Given the description of an element on the screen output the (x, y) to click on. 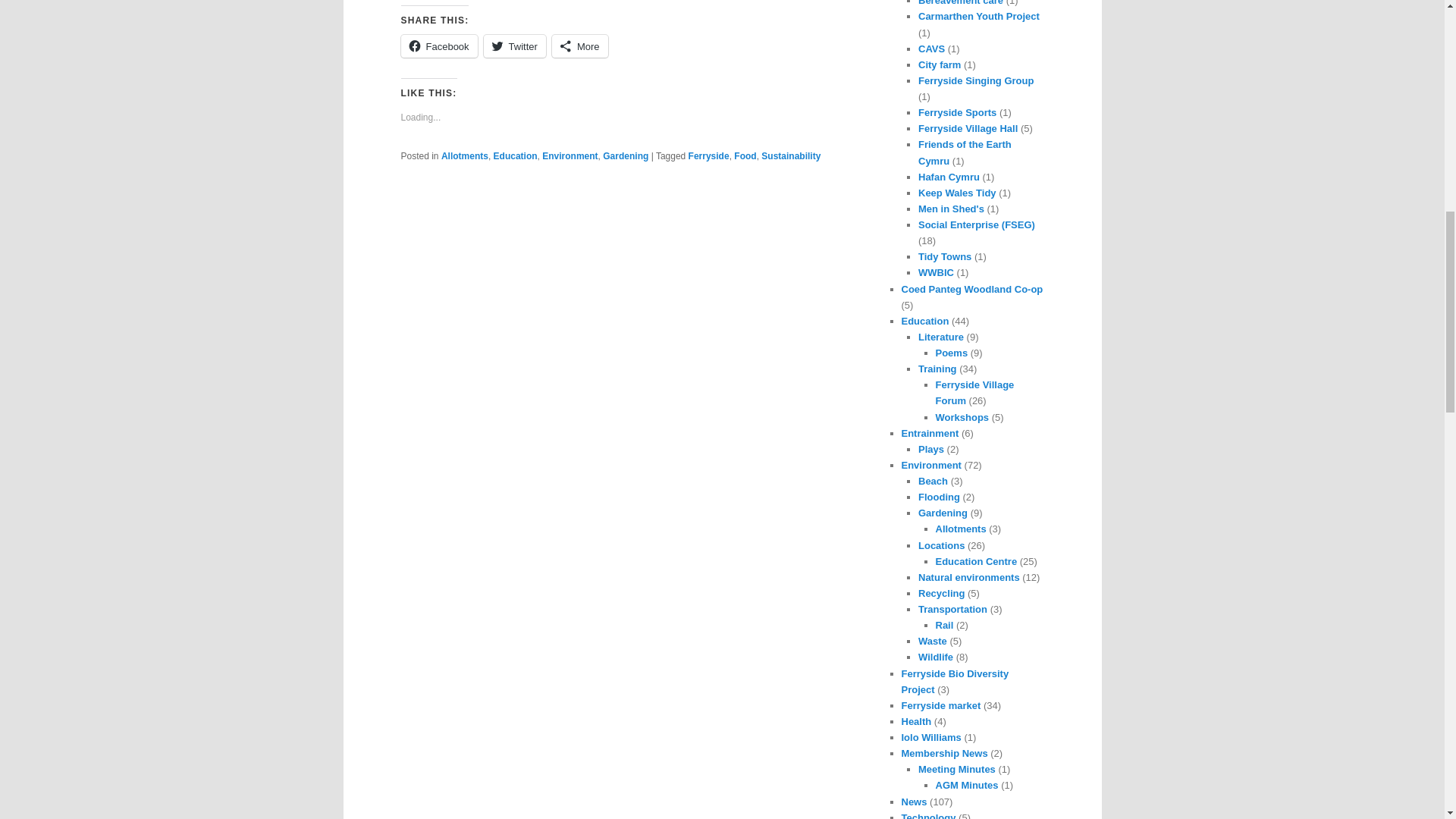
Click to share on Twitter (514, 46)
Twitter (514, 46)
Education (515, 155)
Click to share on Facebook (438, 46)
Facebook (438, 46)
Allotments (464, 155)
More (579, 46)
